Given the description of an element on the screen output the (x, y) to click on. 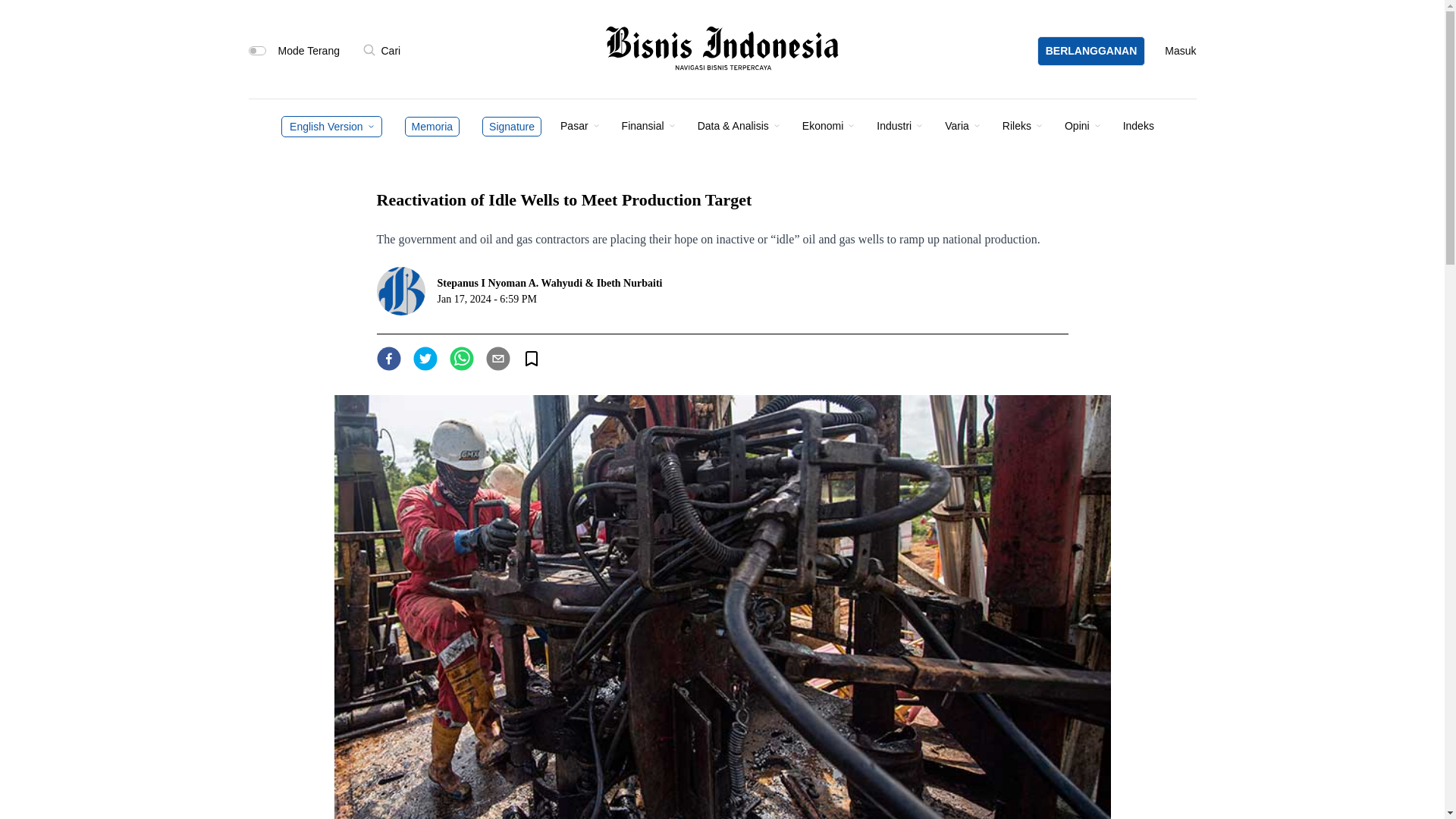
Indeks (1138, 125)
BERLANGGANAN (1091, 50)
Reactivation of Idle Wells to Meet Production Target (387, 358)
Industri (893, 125)
Memoria (432, 126)
Masuk (1179, 50)
Opini (1076, 125)
Reactivation of Idle Wells to Meet Production Target (496, 358)
Rileks (1016, 125)
Varia (956, 125)
English Version (325, 125)
Ekonomi (822, 125)
Pasar (574, 125)
Signature (511, 126)
Finansial (642, 125)
